Given the description of an element on the screen output the (x, y) to click on. 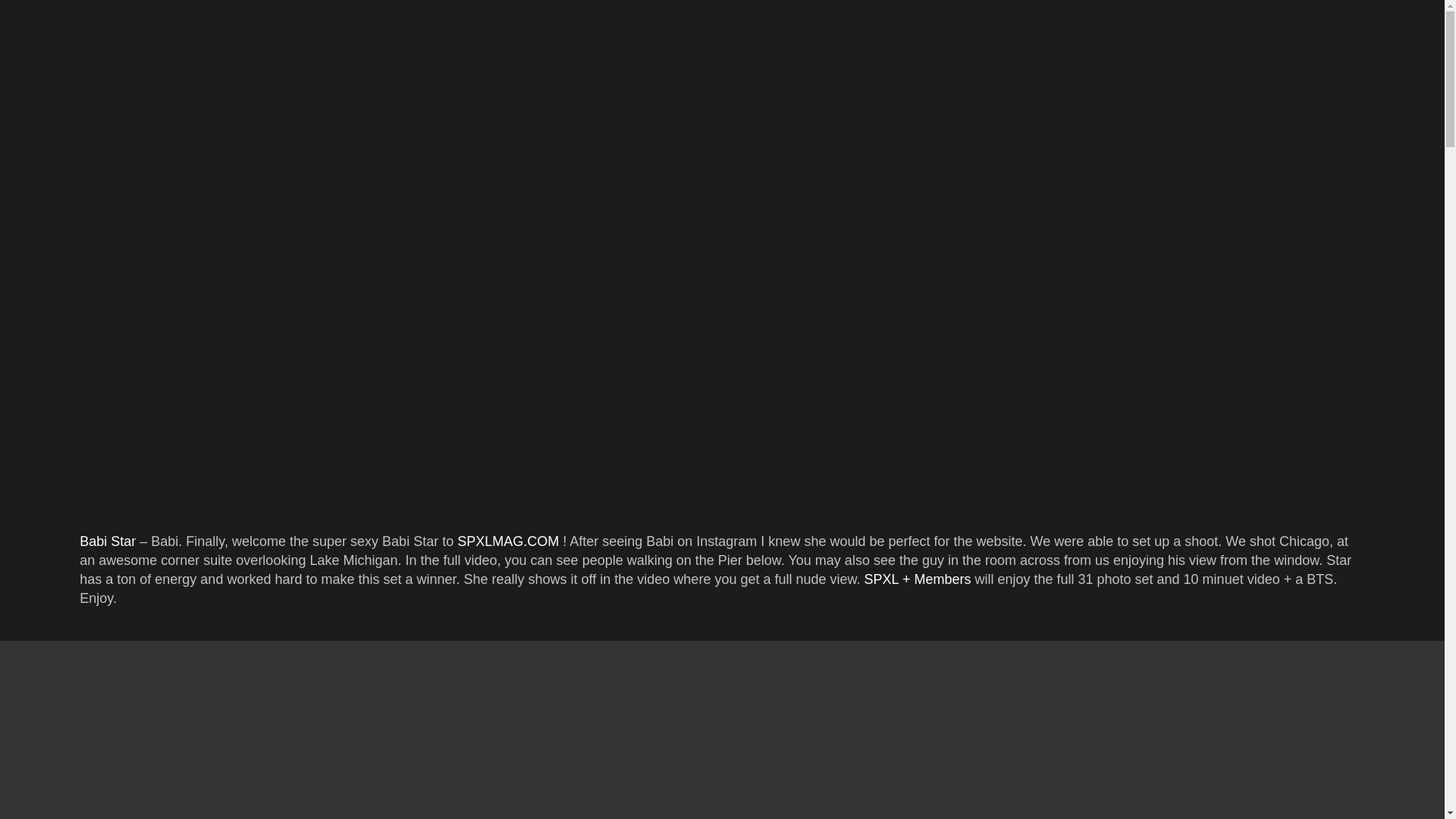
Babi Star (107, 540)
SPXLMAG.COM (508, 540)
